Given the description of an element on the screen output the (x, y) to click on. 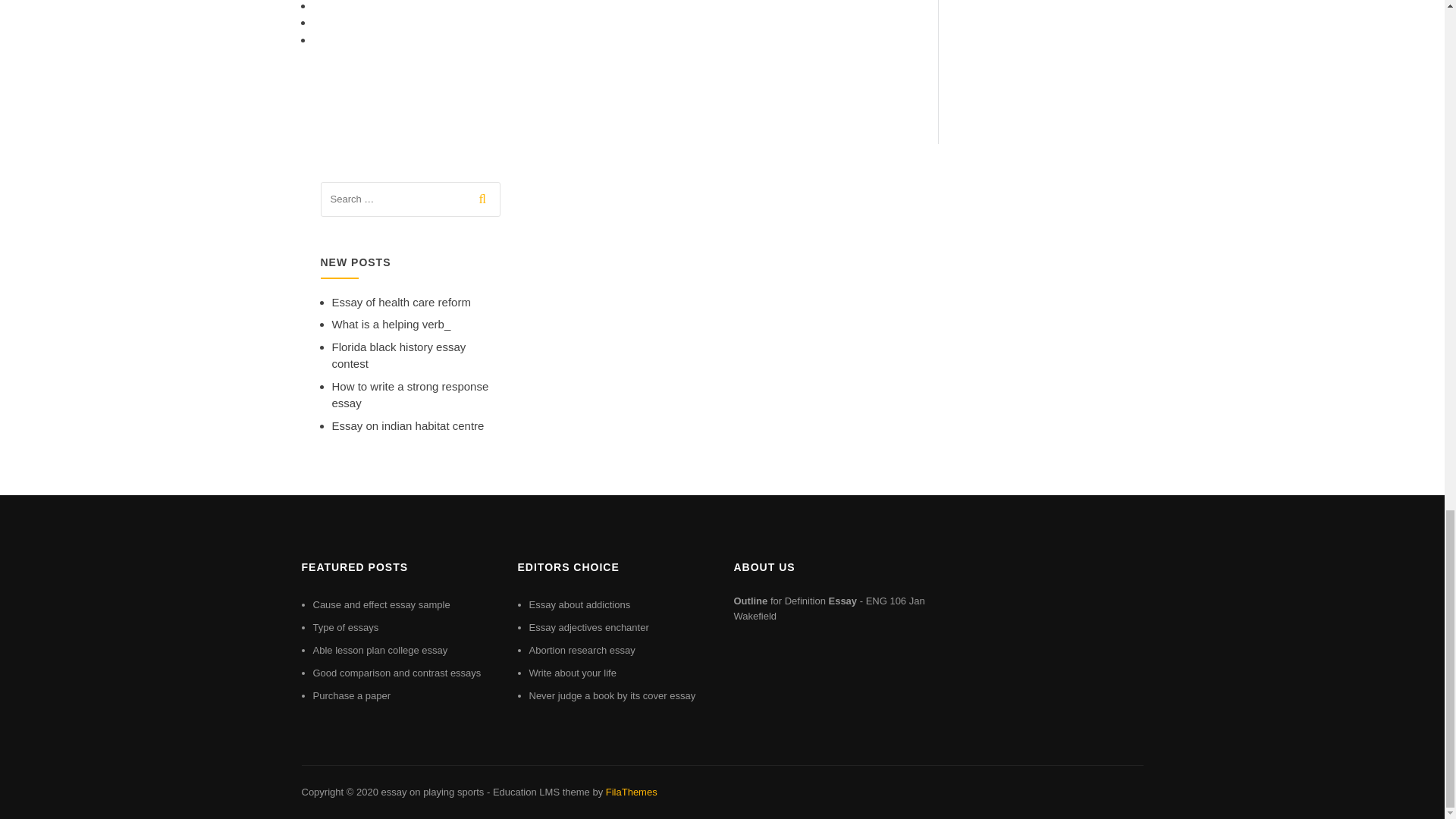
Never judge a book by its cover essay (612, 695)
Able lesson plan college essay (379, 650)
Essay of health care reform (400, 301)
Purchase a paper (351, 695)
Abortion research essay (581, 650)
Good comparison and contrast essays (396, 672)
How to write a strong response essay (410, 395)
essay on playing sports (431, 791)
Cause and effect essay sample (381, 604)
essay on playing sports (431, 791)
Essay adjectives enchanter (589, 627)
Essay on indian habitat centre (407, 425)
Florida black history essay contest (398, 355)
Type of essays (345, 627)
Write about your life (572, 672)
